Given the description of an element on the screen output the (x, y) to click on. 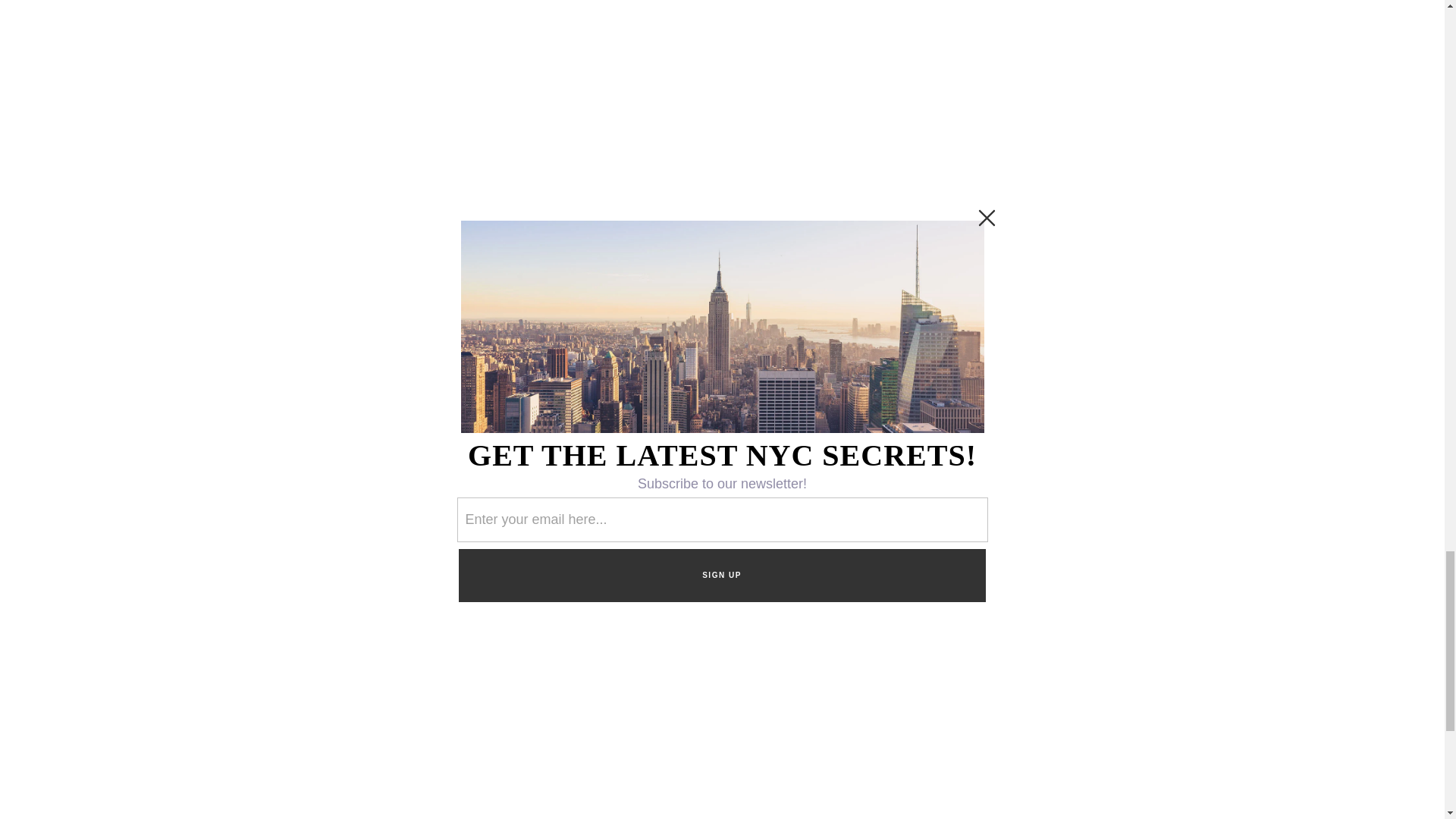
Sign up (1023, 697)
e99a09560c (984, 655)
7cff6a70fd (1024, 655)
